Given the description of an element on the screen output the (x, y) to click on. 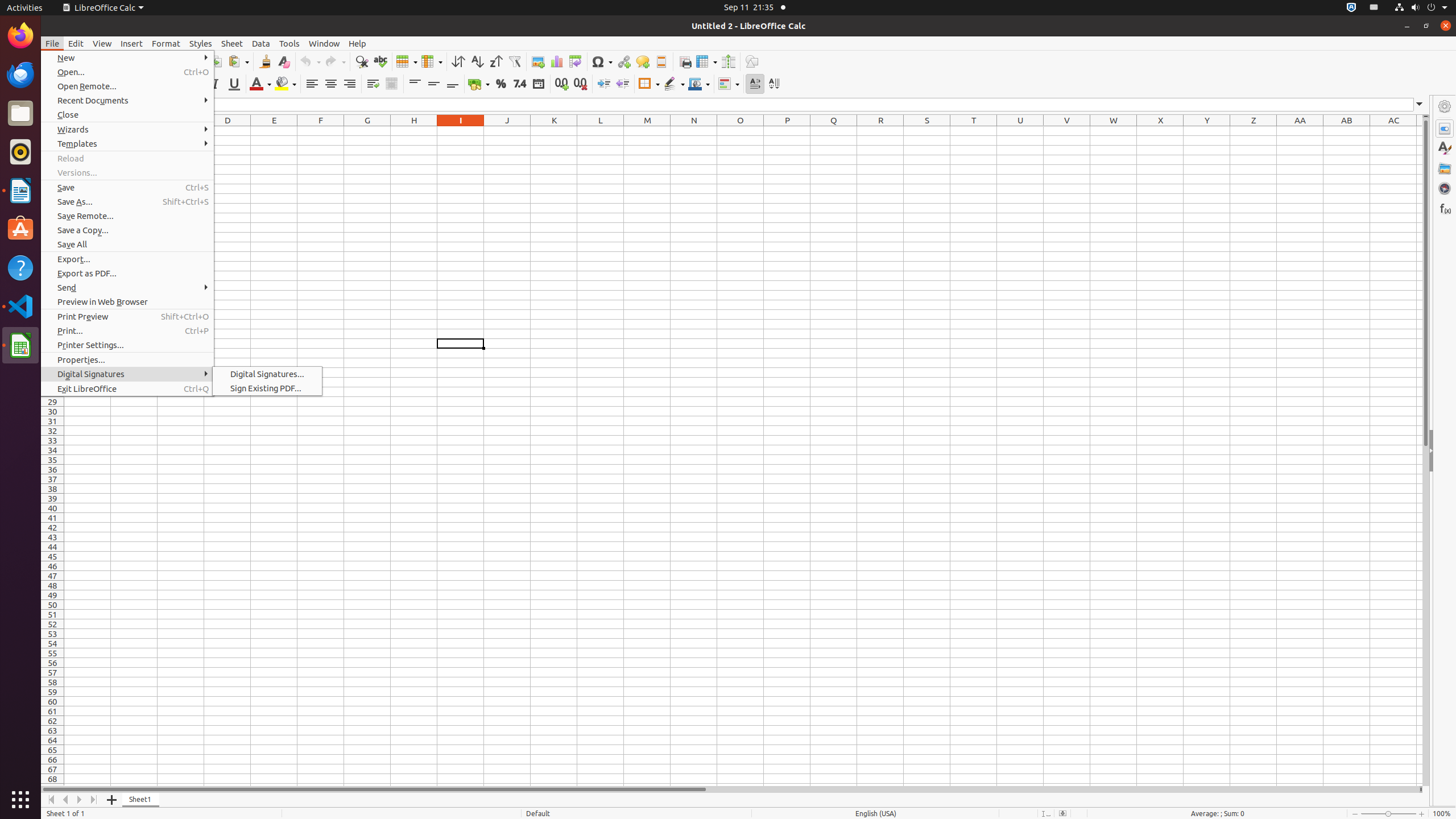
Percent Element type: push-button (500, 83)
Navigator Element type: radio-button (1444, 188)
Border Style Element type: push-button (673, 83)
Wizards Element type: menu (126, 129)
AB1 Element type: table-cell (1346, 130)
